Given the description of an element on the screen output the (x, y) to click on. 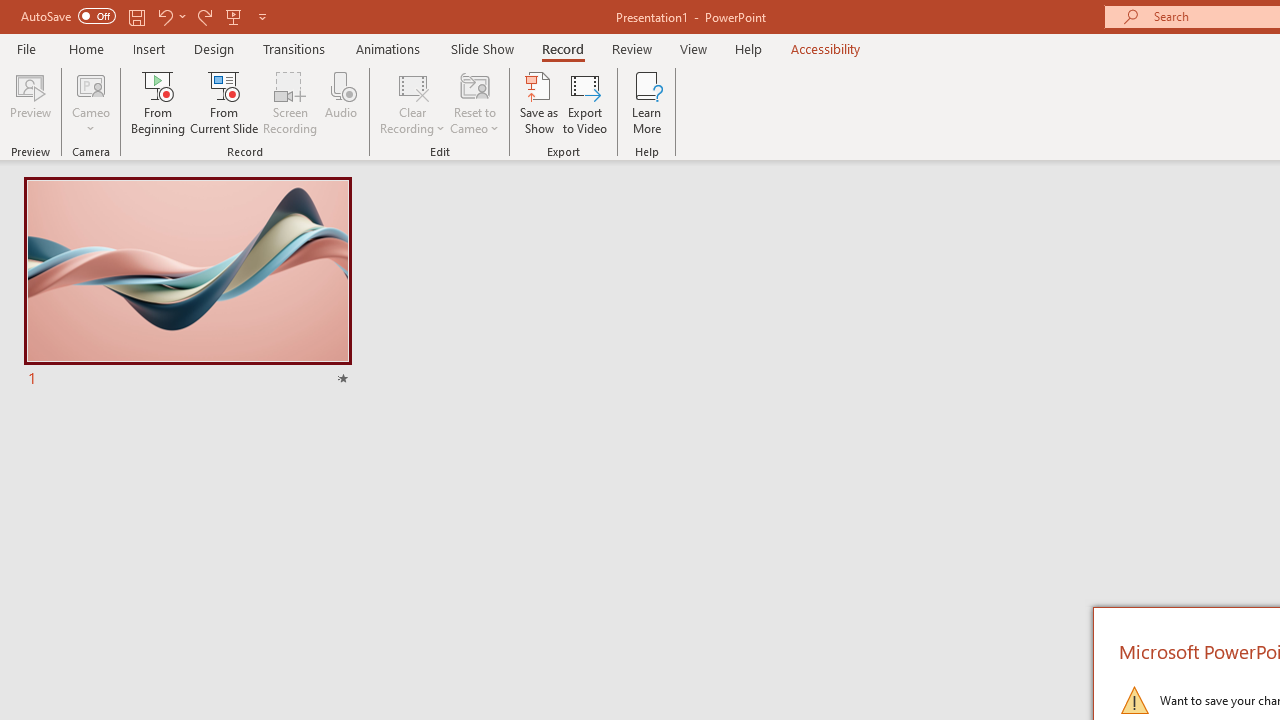
Reset to Cameo (474, 102)
From Beginning... (158, 102)
Save as Show (539, 102)
Screen Recording (290, 102)
From Current Slide... (224, 102)
